Given the description of an element on the screen output the (x, y) to click on. 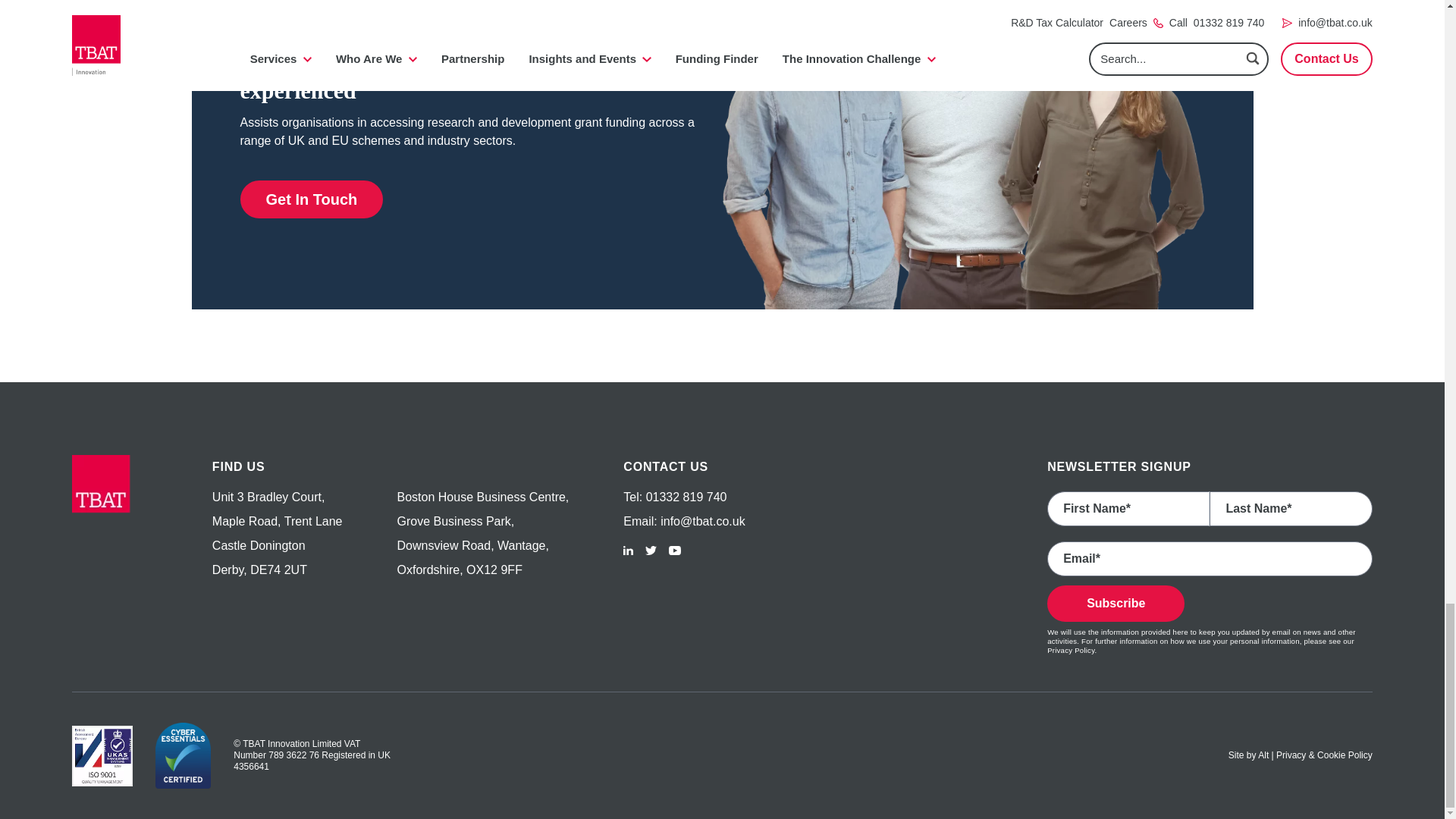
Subscribe (1115, 603)
